Given the description of an element on the screen output the (x, y) to click on. 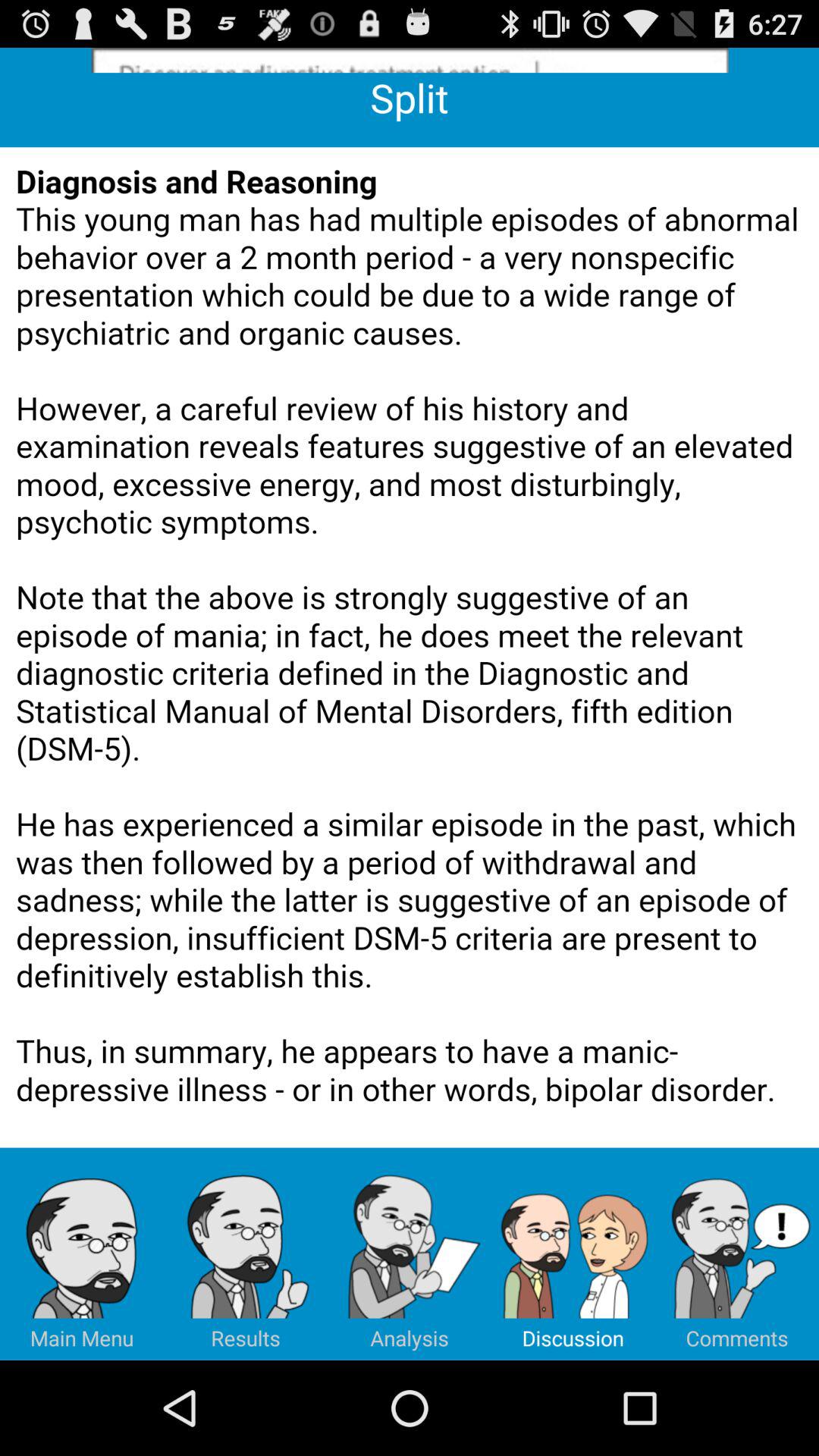
advertisement (409, 59)
